Given the description of an element on the screen output the (x, y) to click on. 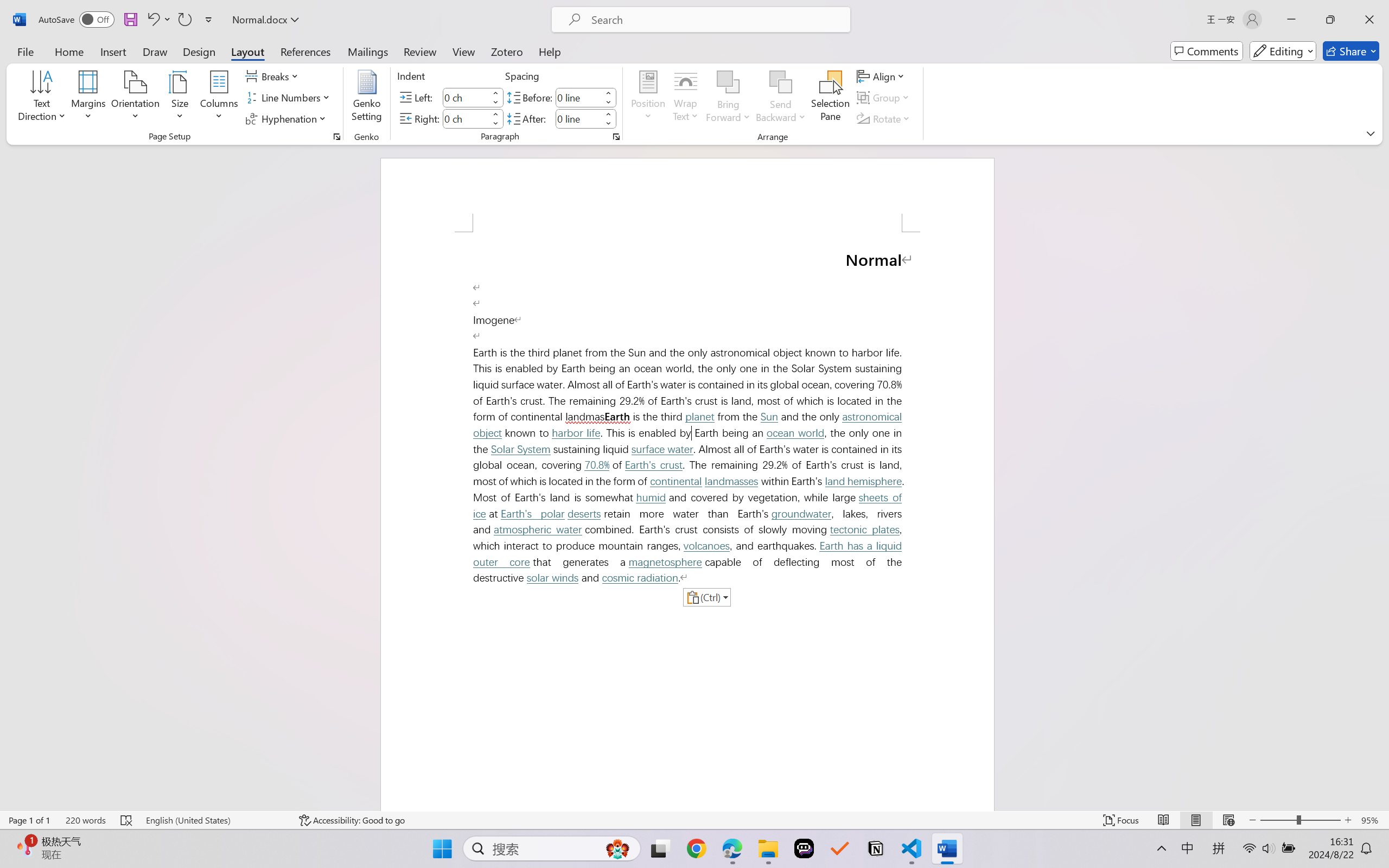
Sun (769, 416)
Less (608, 123)
cosmic radiation (639, 578)
Size (180, 97)
Bring Forward (728, 81)
Page Setup... (336, 136)
Align (881, 75)
Breaks (273, 75)
sheets of ice (690, 505)
